Given the description of an element on the screen output the (x, y) to click on. 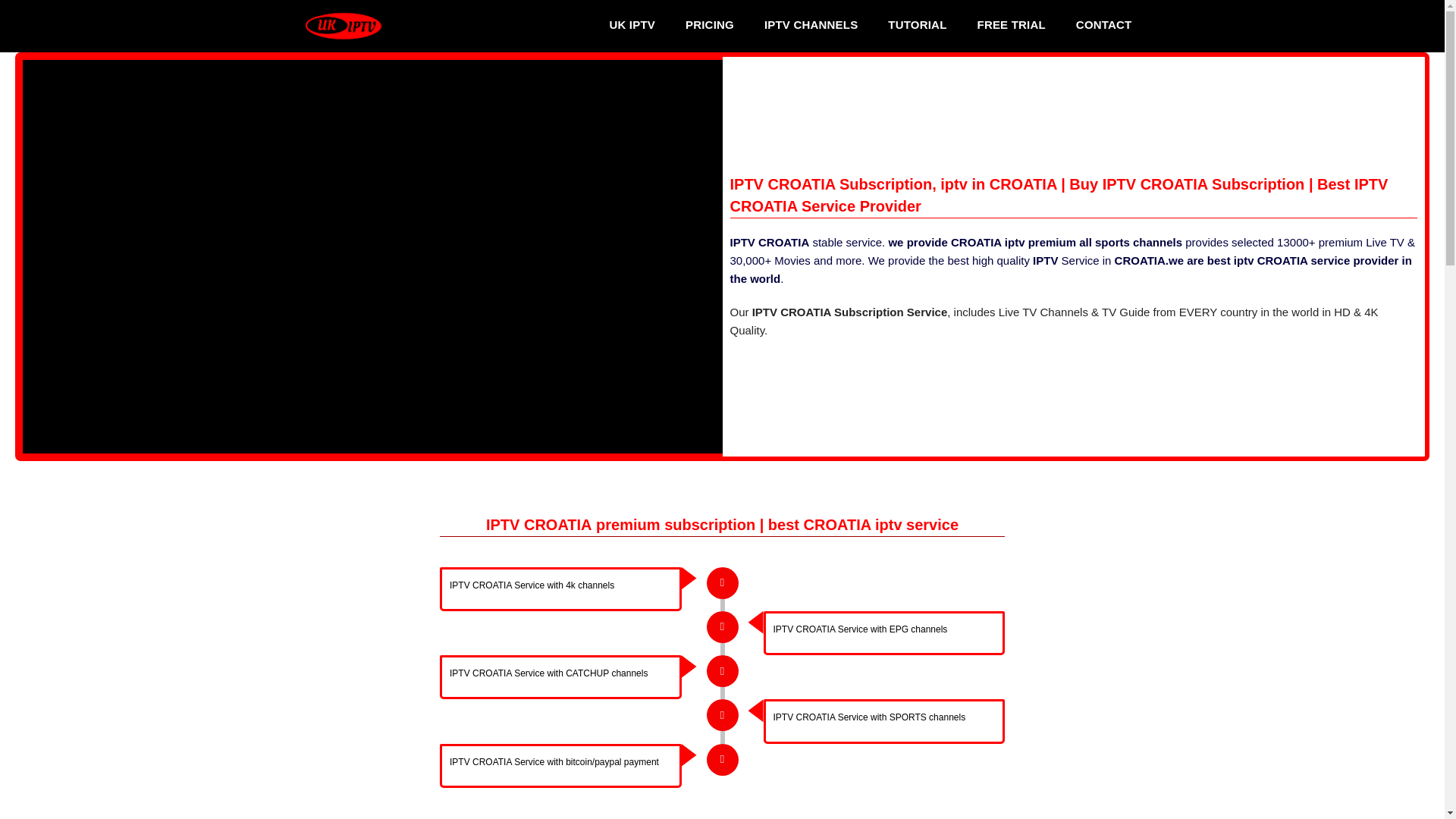
CONTACT (1104, 24)
IPTV CHANNELS (810, 24)
FREE TRIAL (1011, 24)
TUTORIAL (916, 24)
PRICING (709, 24)
UK IPTV (631, 24)
